Given the description of an element on the screen output the (x, y) to click on. 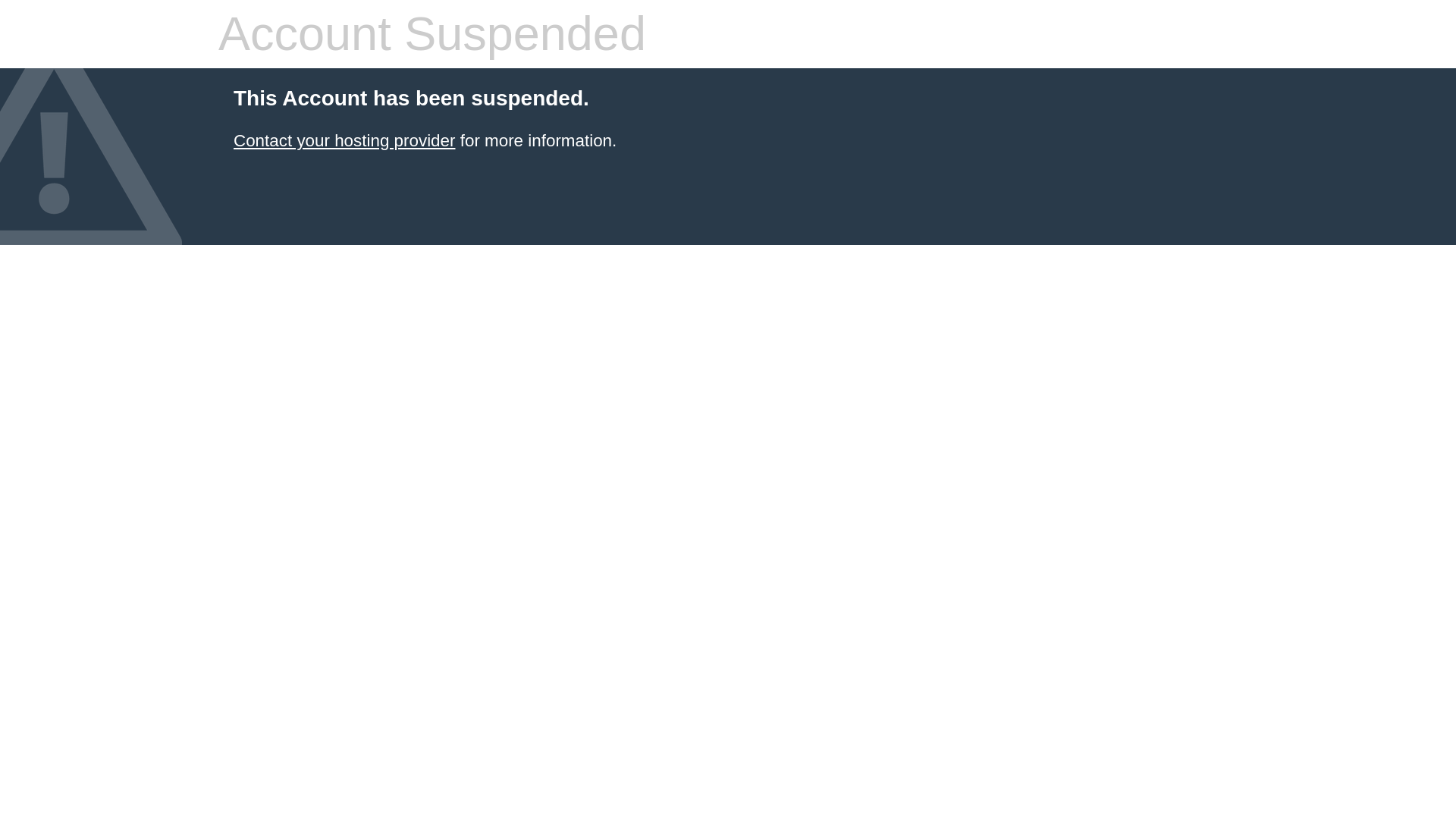
Contact your hosting provider (343, 140)
